Given the description of an element on the screen output the (x, y) to click on. 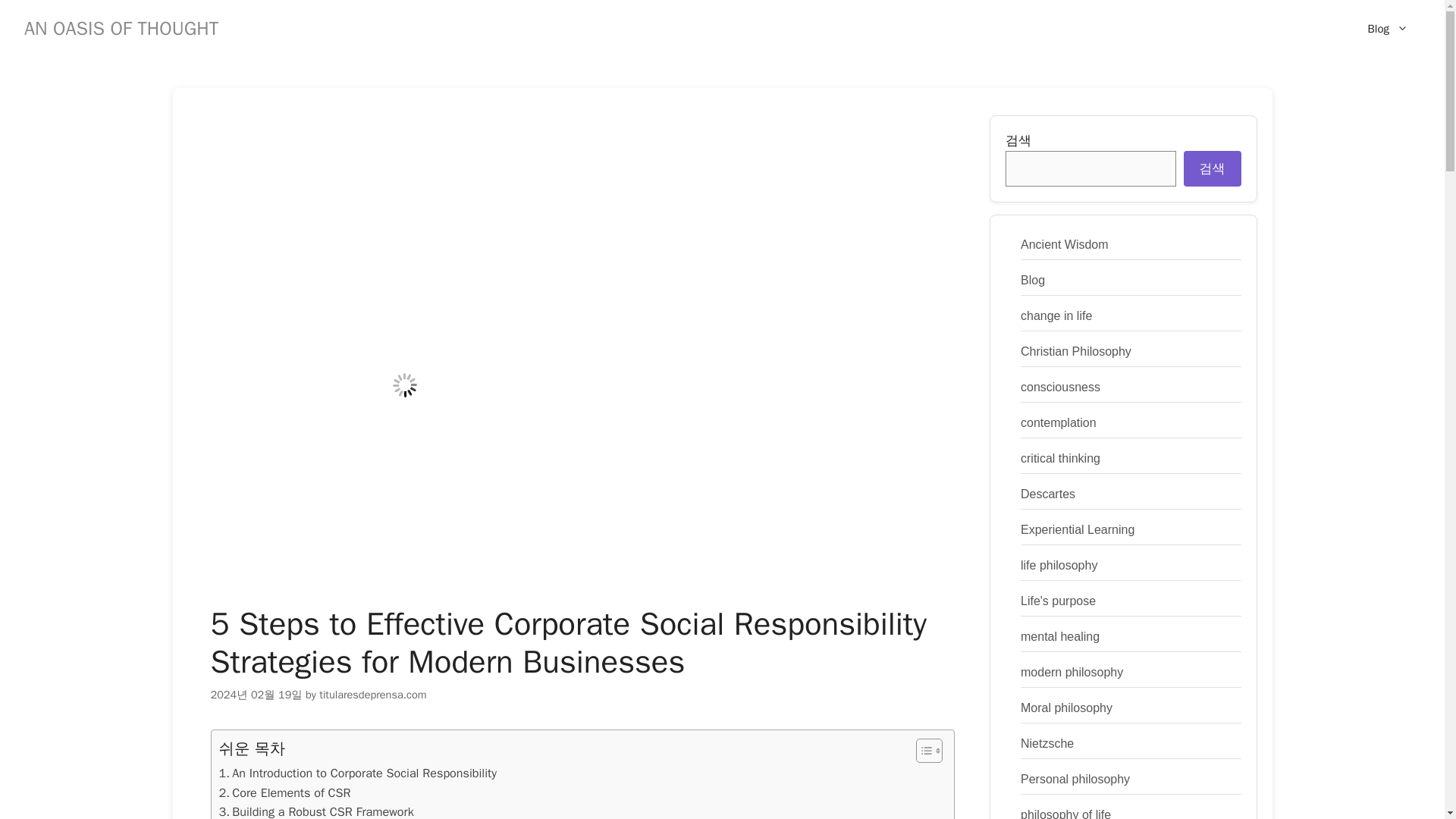
Building a Robust CSR Framework (315, 810)
Core Elements of CSR (284, 792)
Blog (1388, 28)
An Introduction to Corporate Social Responsibility (357, 772)
Core Elements of CSR (284, 792)
View all posts by titularesdeprensa.com (372, 694)
An Introduction to Corporate Social Responsibility (357, 772)
Building a Robust CSR Framework (315, 810)
AN OASIS OF THOUGHT (121, 28)
titularesdeprensa.com (372, 694)
